Given the description of an element on the screen output the (x, y) to click on. 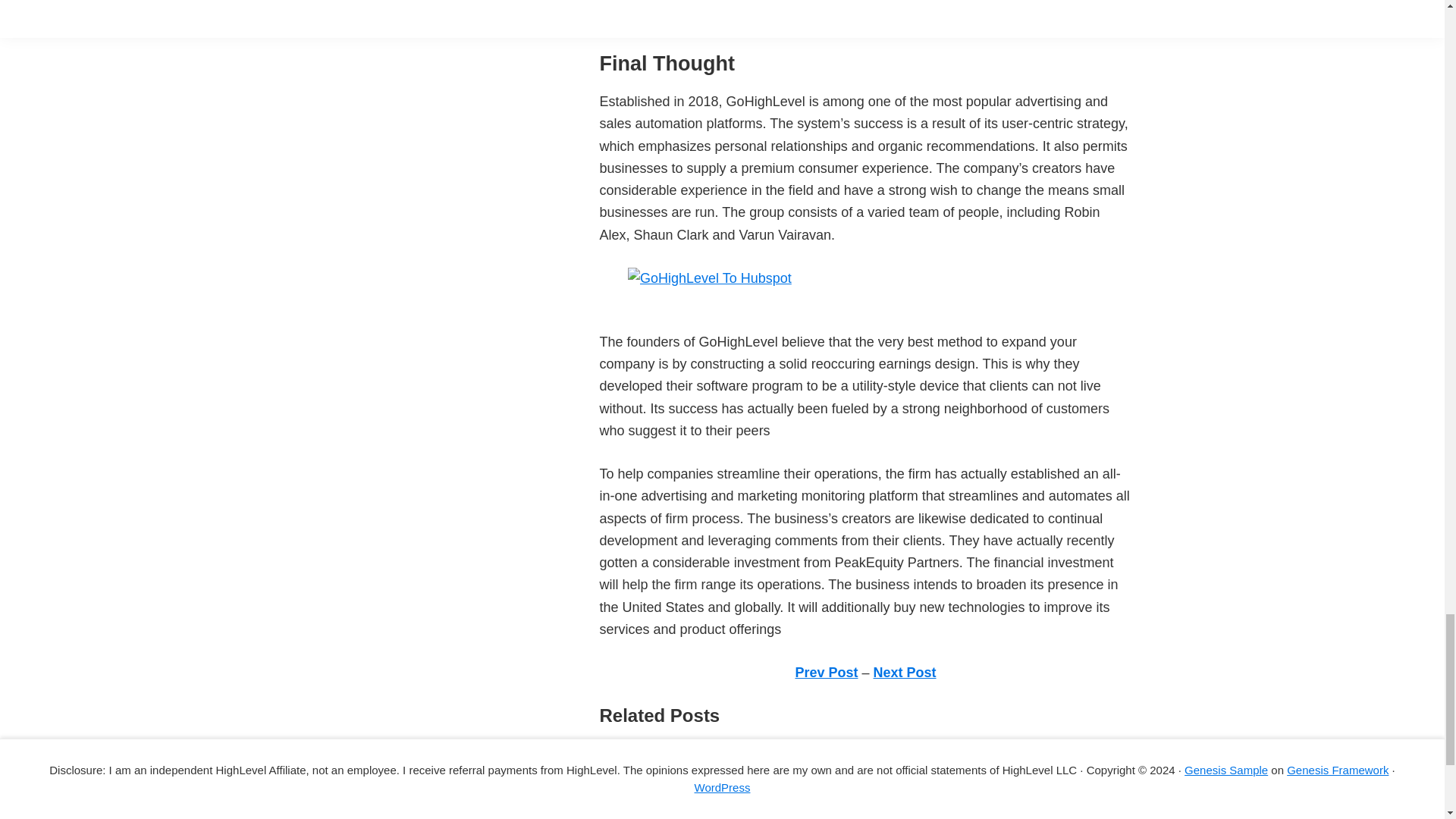
Prev Post (825, 672)
GoHighLevel Vs Ontraport (678, 815)
Buy GoHighLevel Snapshots (685, 752)
Next Post (904, 672)
GoHighLevel Vs Ontraport (678, 815)
GoHighLevel Review Reddit (684, 774)
GoHighLevel Review Reddit (684, 774)
Benefits of GoHighLevel (671, 797)
Benefits of GoHighLevel (671, 797)
Buy GoHighLevel Snapshots (685, 752)
